Given the description of an element on the screen output the (x, y) to click on. 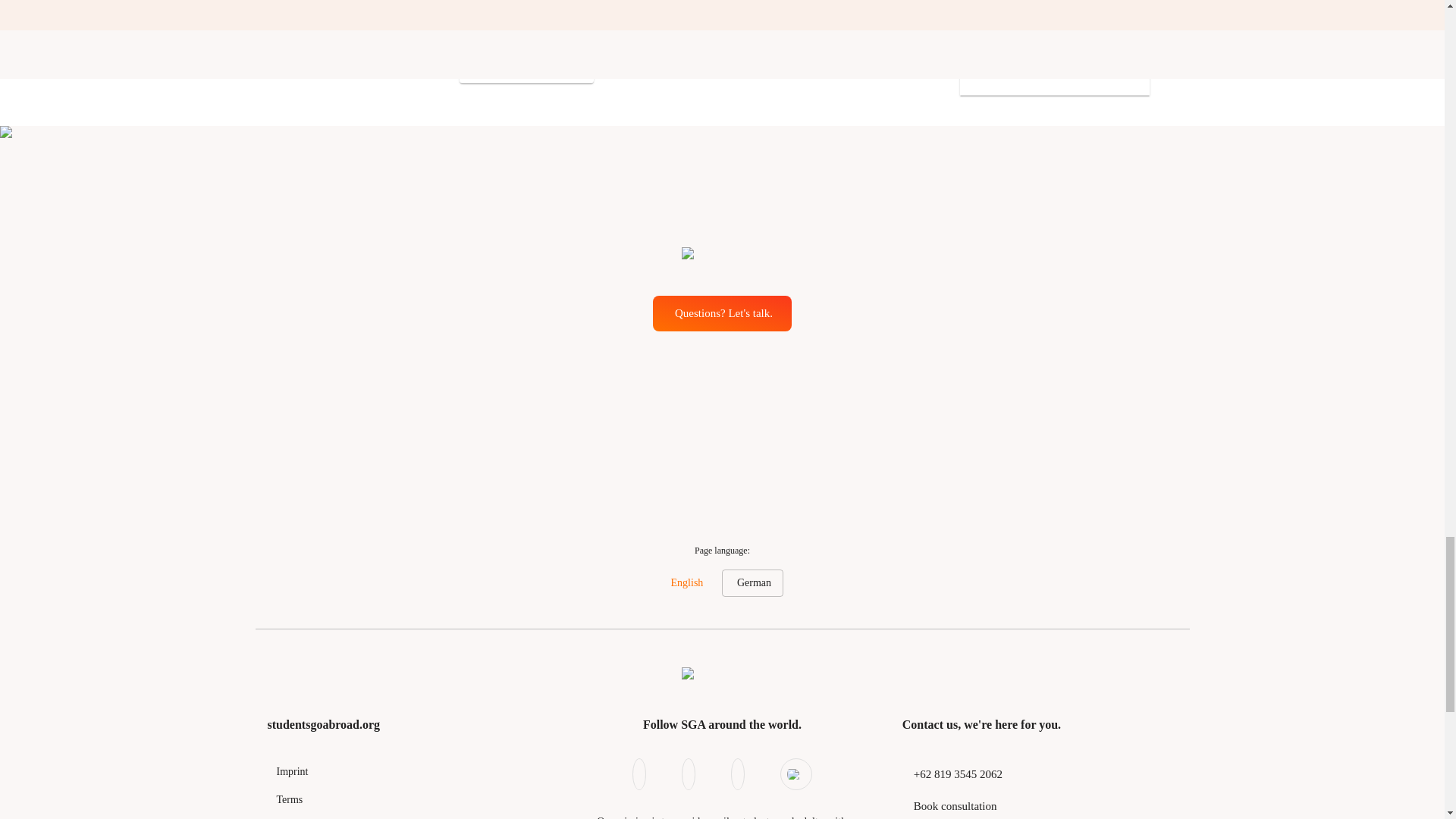
Questions? Let's talk. (722, 312)
